Given the description of an element on the screen output the (x, y) to click on. 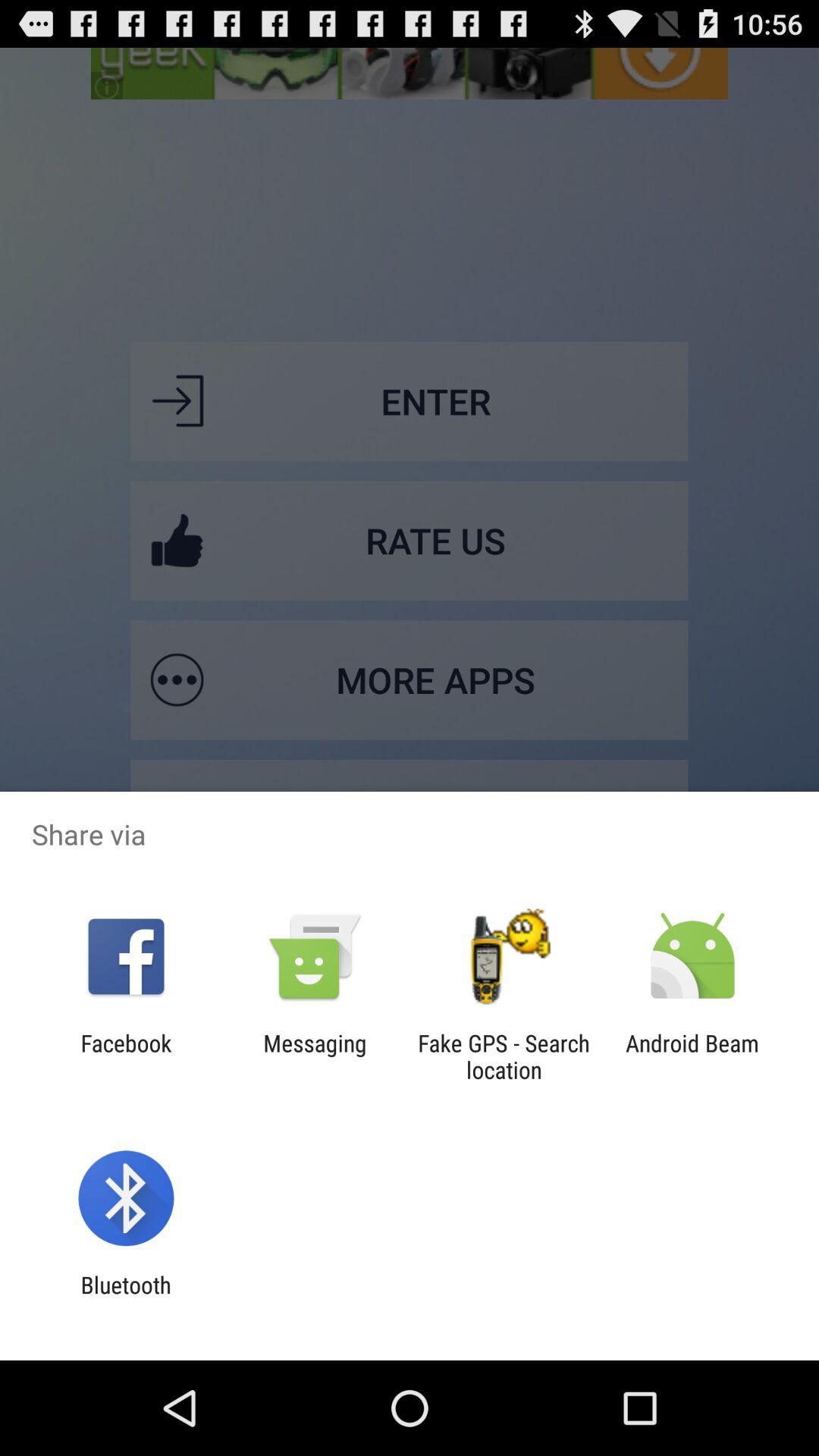
open the app next to fake gps search item (692, 1056)
